Given the description of an element on the screen output the (x, y) to click on. 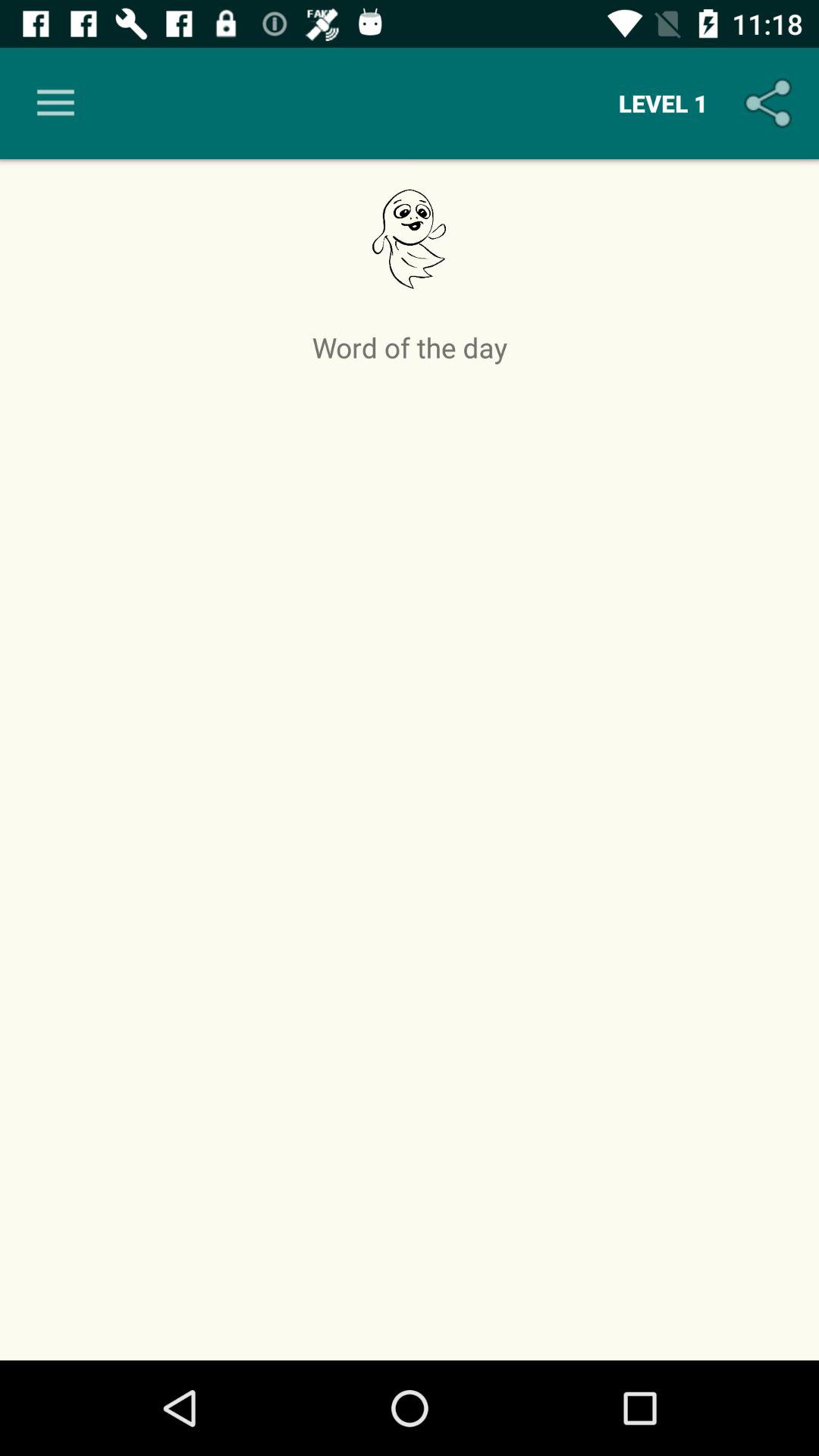
tap icon to the left of level 1 item (55, 103)
